Given the description of an element on the screen output the (x, y) to click on. 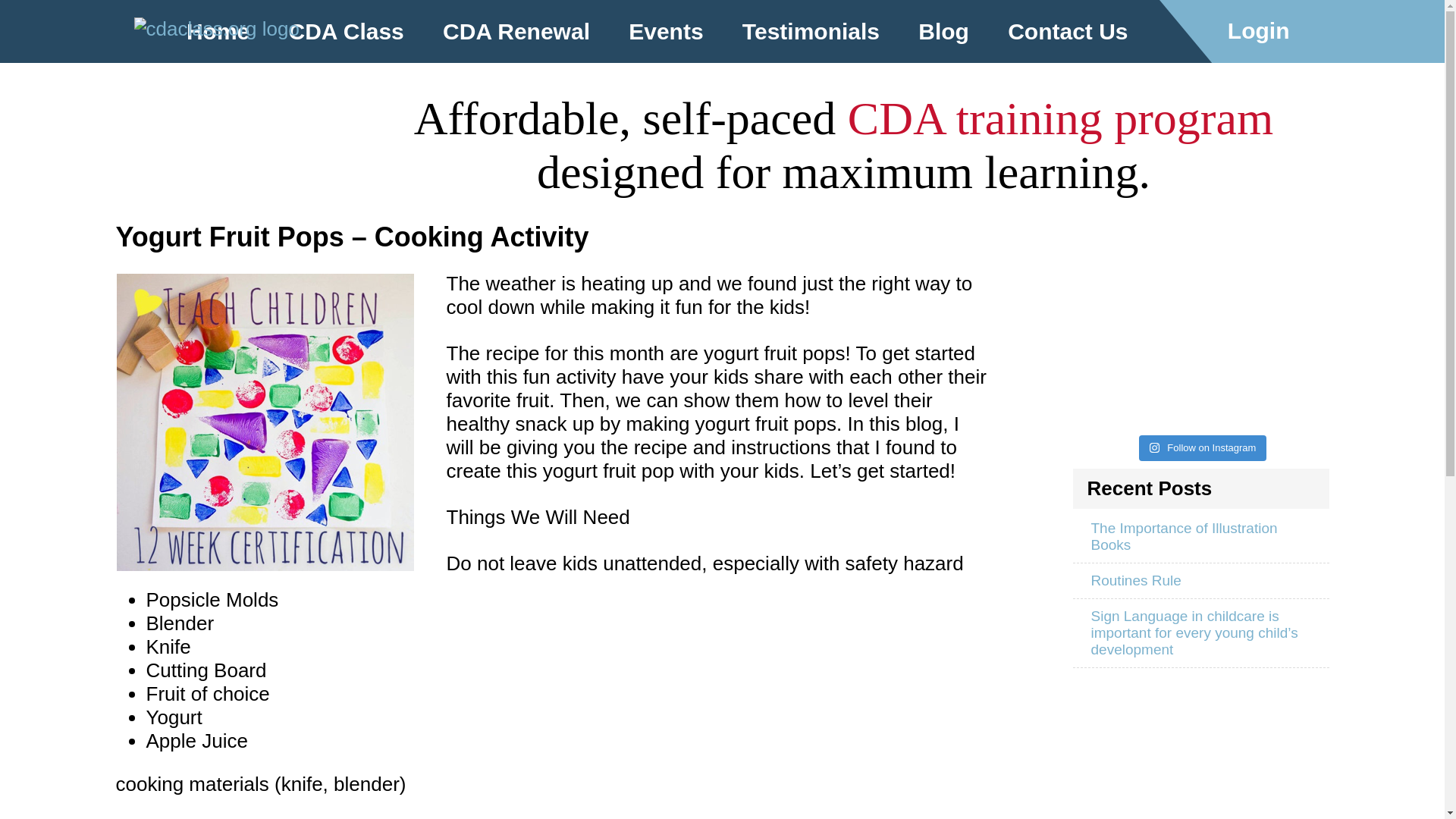
CDA Class (346, 31)
Events (665, 31)
Contact Us (1067, 31)
The Importance of Illustration Books (1199, 537)
Follow on Instagram (1202, 447)
Blog (943, 31)
Home (218, 31)
Testimonials (810, 31)
Login (1270, 31)
CDA Renewal (516, 31)
